Given the description of an element on the screen output the (x, y) to click on. 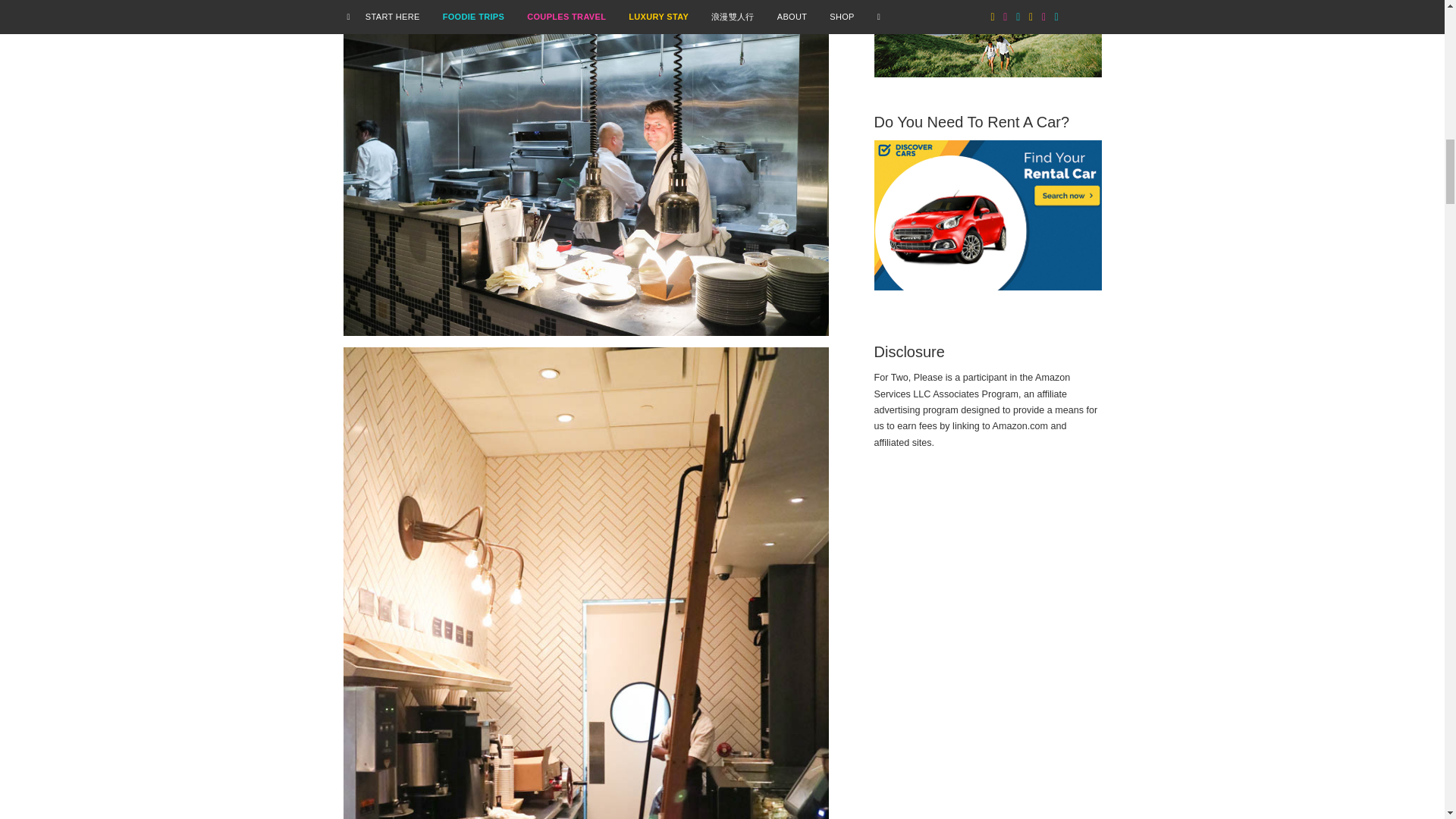
Find Your Rental Car (986, 215)
